Given the description of an element on the screen output the (x, y) to click on. 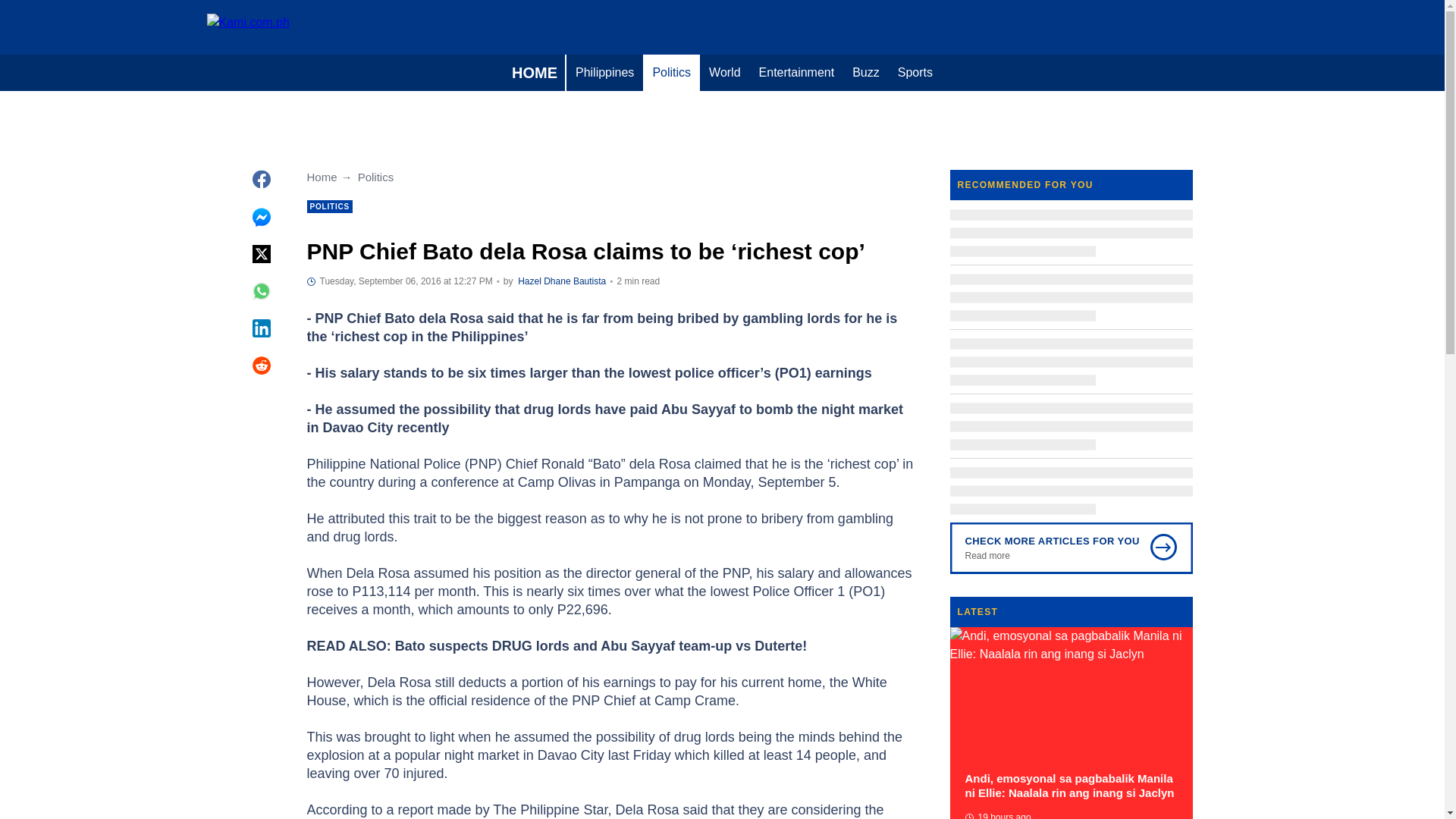
World (724, 72)
HOME (534, 72)
Entertainment (796, 72)
Sports (915, 72)
Philippines (604, 72)
Buzz (865, 72)
Politics (671, 72)
Author page (561, 281)
